Given the description of an element on the screen output the (x, y) to click on. 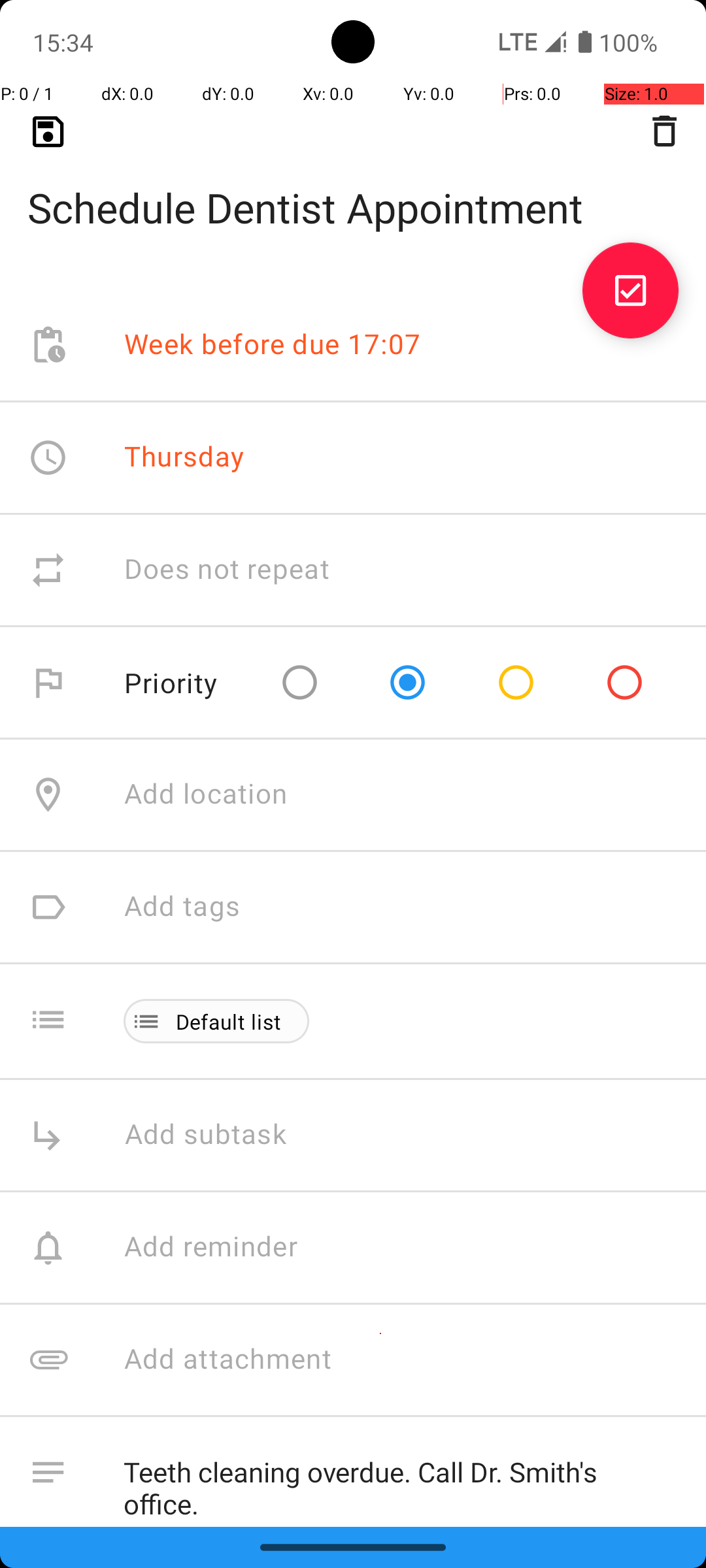
Week before due 17:07 Element type: android.widget.TextView (272, 344)
